Given the description of an element on the screen output the (x, y) to click on. 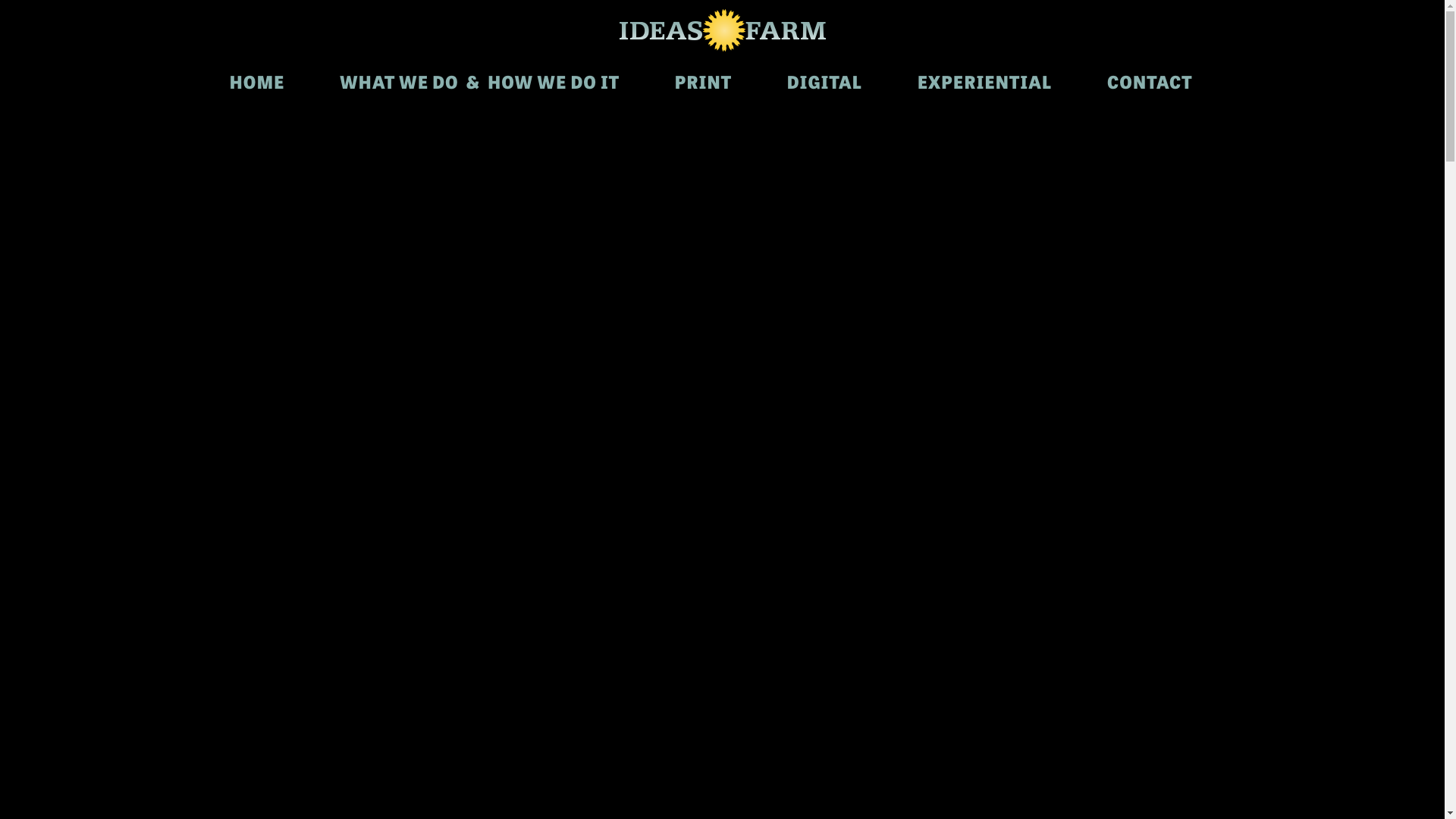
HOME Element type: text (256, 81)
PRINT Element type: text (702, 81)
WHAT WE DO  &  HOW WE DO IT Element type: text (479, 81)
CONTACT Element type: text (1149, 81)
EXPERIENTIAL Element type: text (984, 81)
DIGITAL Element type: text (824, 81)
